Given the description of an element on the screen output the (x, y) to click on. 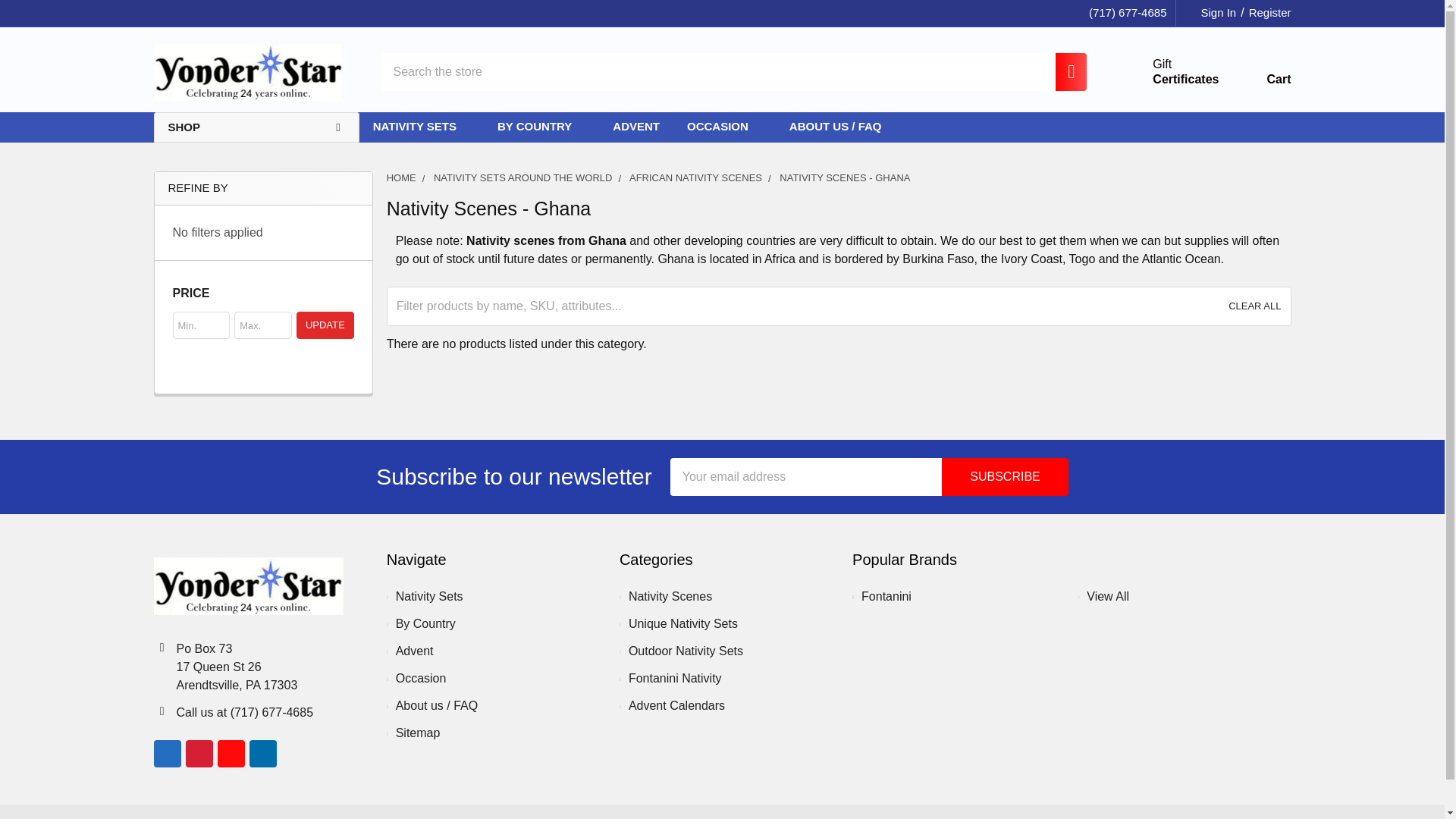
Sign In (1210, 13)
SHOP (255, 127)
Facebook (166, 753)
Yonder Star Christmas Shop LLC (247, 71)
Yonder Star Christmas Shop LLC (247, 586)
Youtube (230, 753)
Gift Certificates (1167, 71)
Pinterest (198, 753)
